Given the description of an element on the screen output the (x, y) to click on. 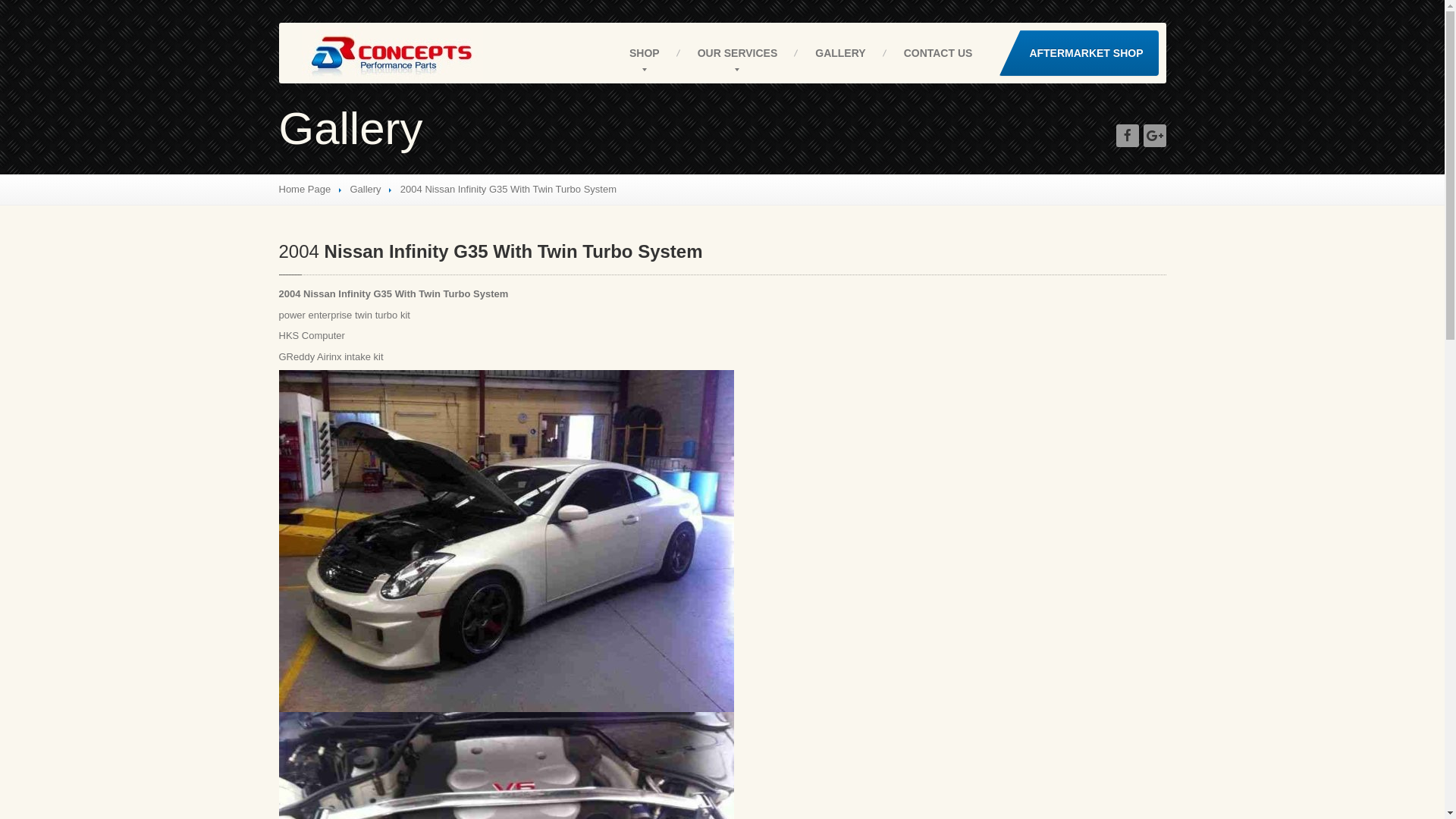
OUR SERVICES Element type: text (737, 52)
Gallery Element type: text (364, 188)
Home Page Element type: text (305, 188)
SHOP Element type: text (644, 52)
GALLERY Element type: text (840, 52)
CONTACT US Element type: text (937, 52)
2004 Nissan Infinity G35 With Twin Turbo System Element type: text (490, 251)
AFTERMARKET SHOP Element type: text (1077, 52)
